Given the description of an element on the screen output the (x, y) to click on. 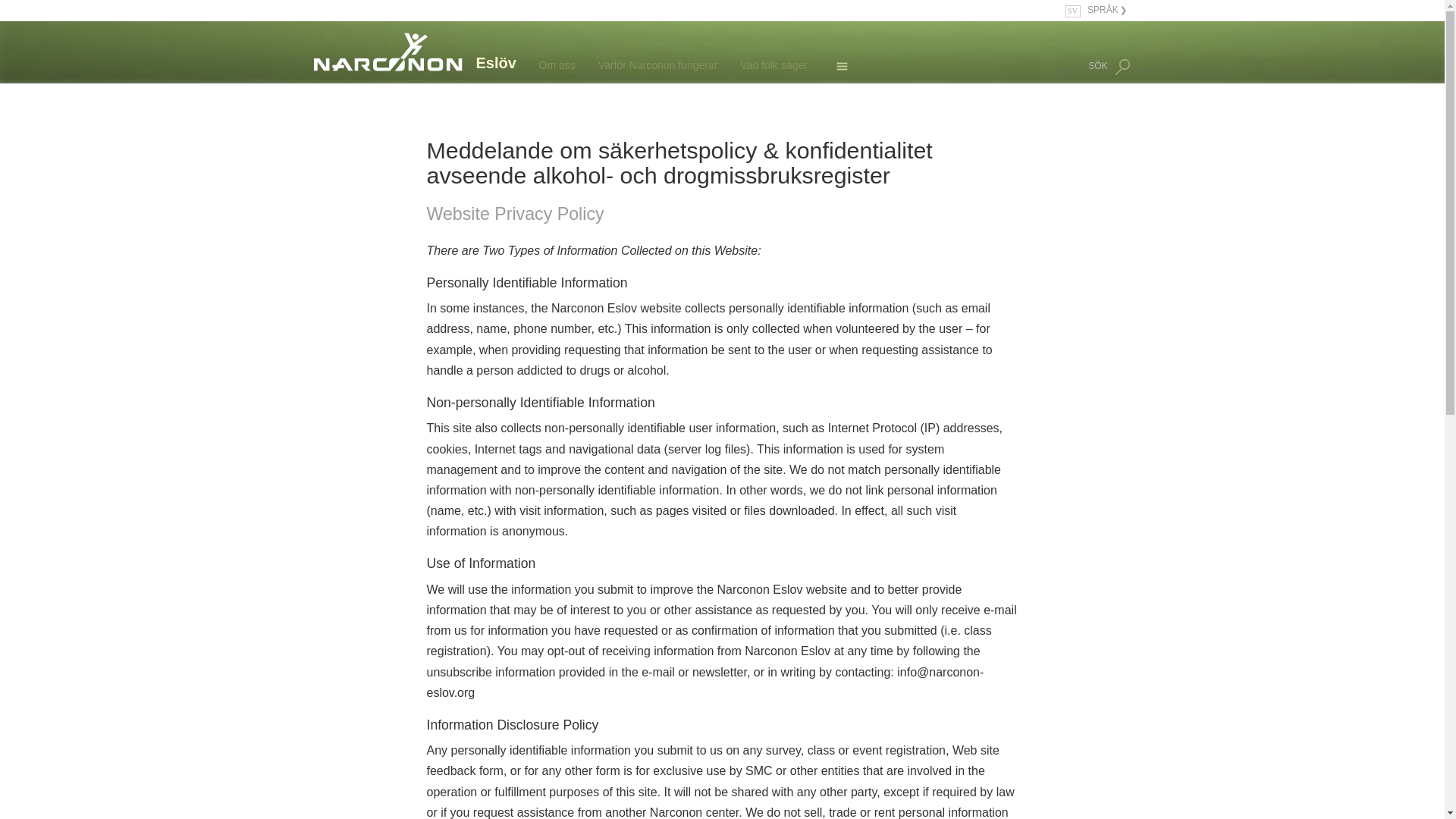
Om oss (537, 65)
